Given the description of an element on the screen output the (x, y) to click on. 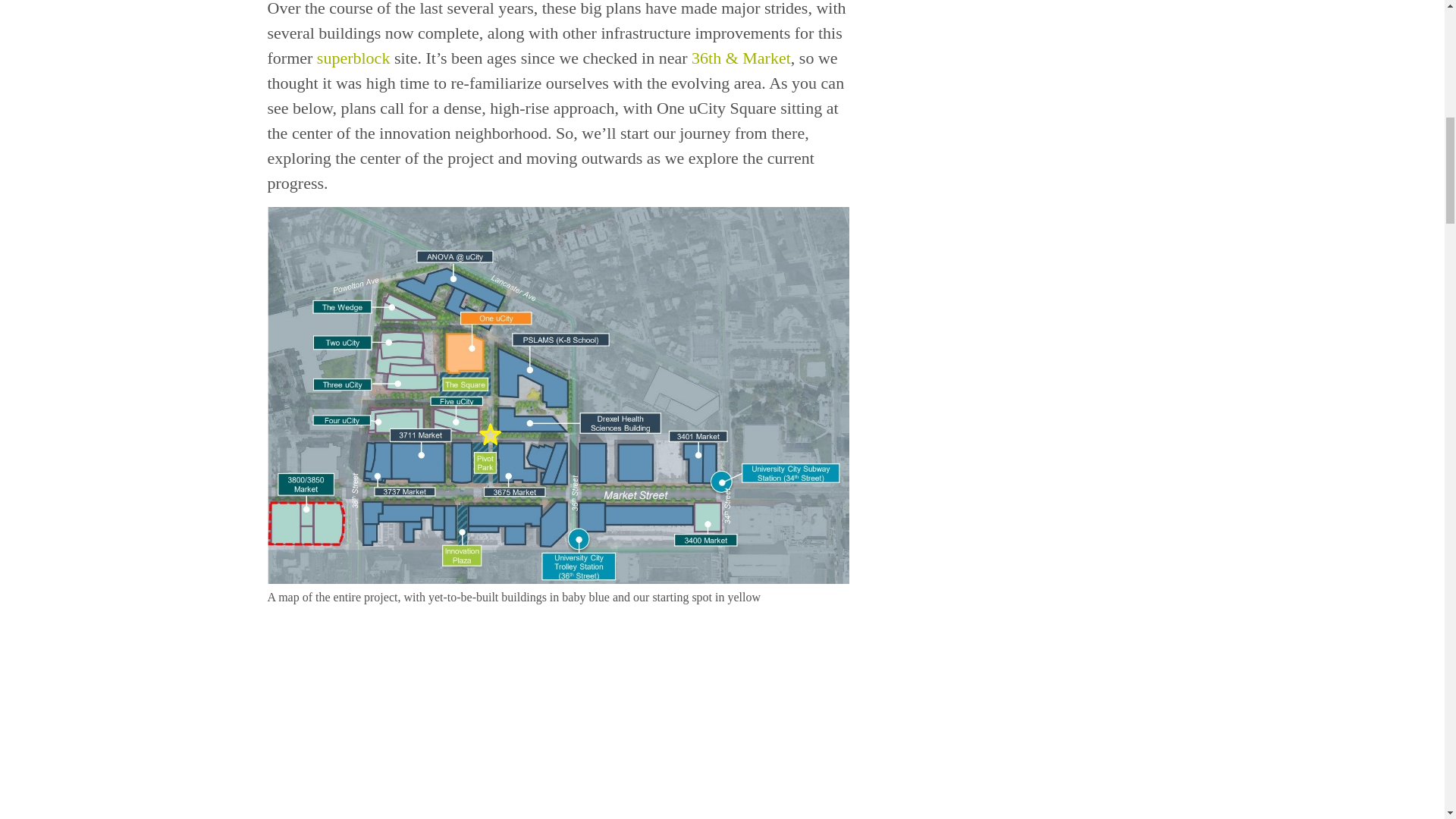
superblock (353, 57)
